Given the description of an element on the screen output the (x, y) to click on. 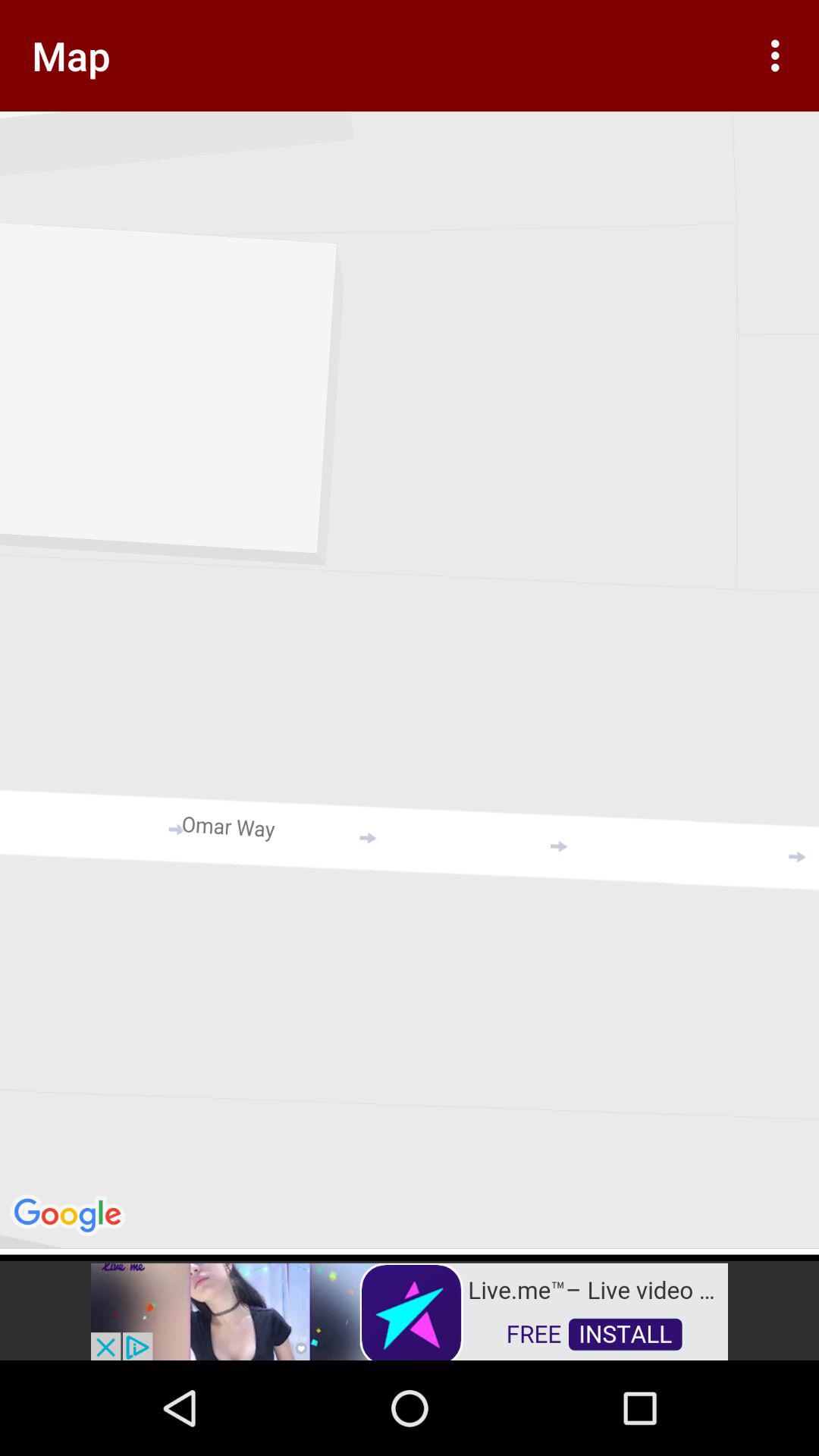
advertisement banner (409, 1310)
